Given the description of an element on the screen output the (x, y) to click on. 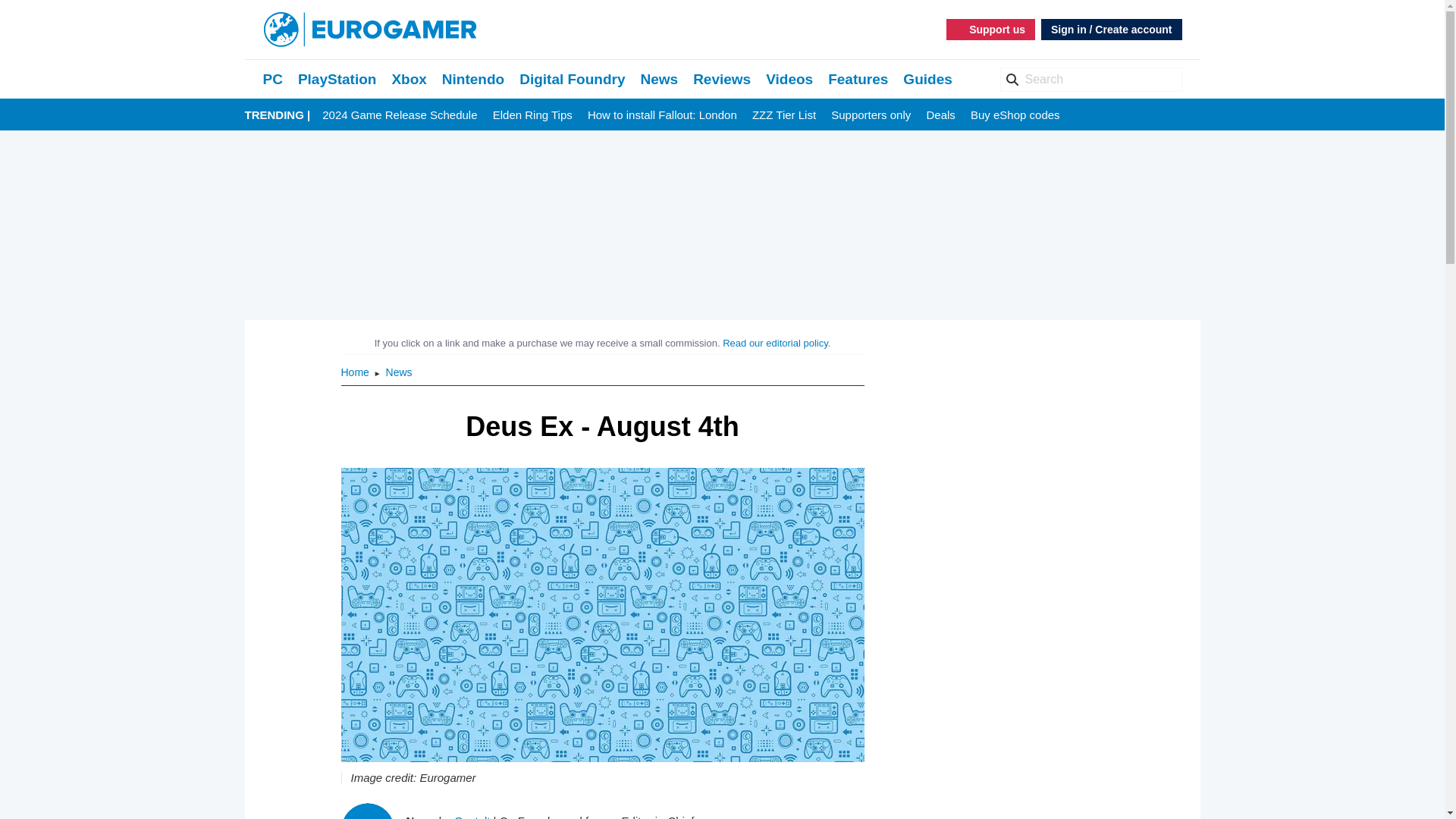
Guides (927, 78)
News (398, 372)
2024 Game Release Schedule (399, 114)
PC (272, 78)
Reviews (722, 78)
Elden Ring Tips (532, 114)
PlayStation (336, 78)
How to install Fallout: London (662, 114)
Deals (940, 114)
Support us (990, 29)
News (659, 78)
ZZZ Tier List (783, 114)
Nintendo (472, 78)
PlayStation (336, 78)
Features (858, 78)
